Given the description of an element on the screen output the (x, y) to click on. 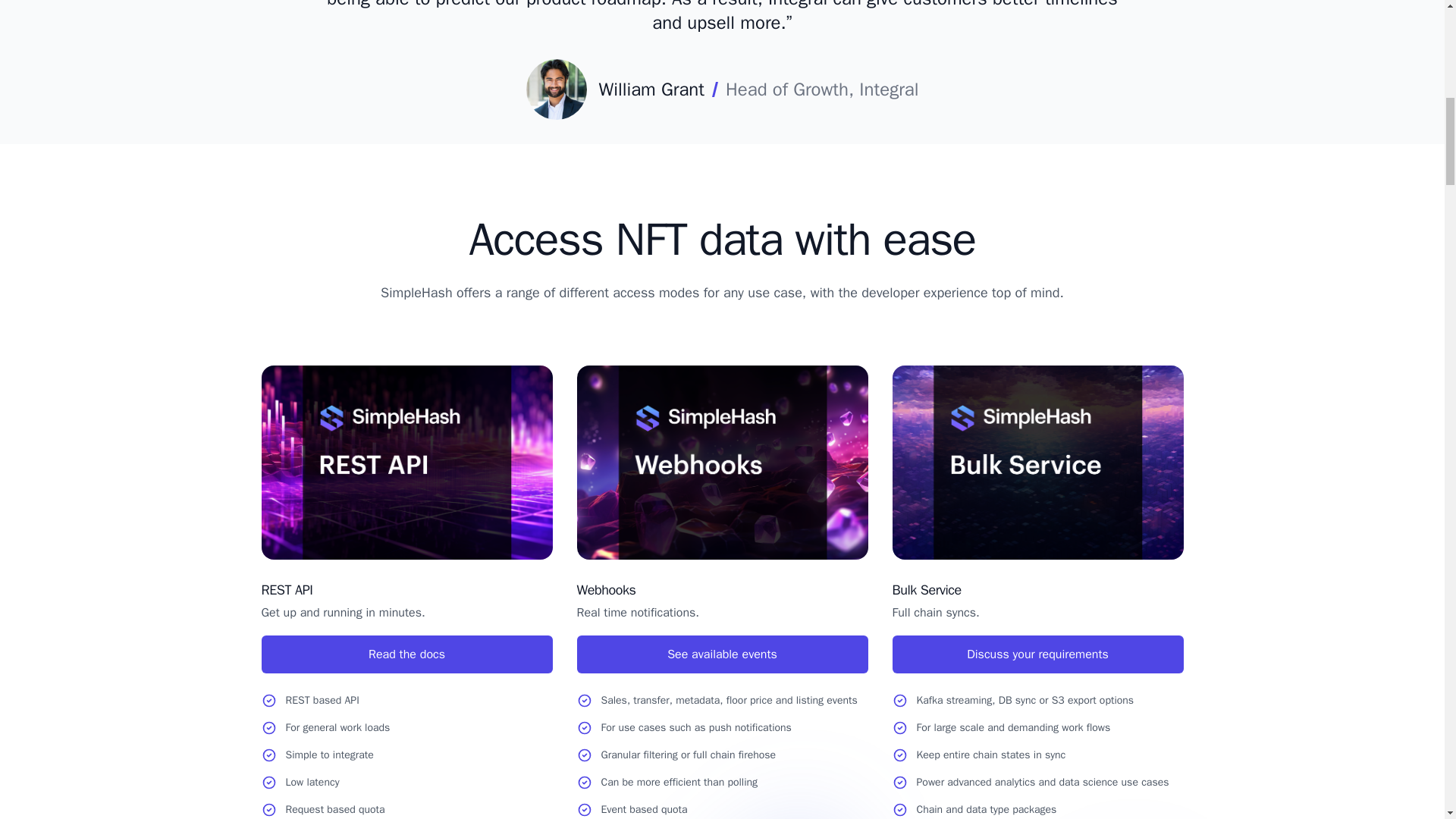
See available events (721, 654)
Read the docs (405, 654)
